Given the description of an element on the screen output the (x, y) to click on. 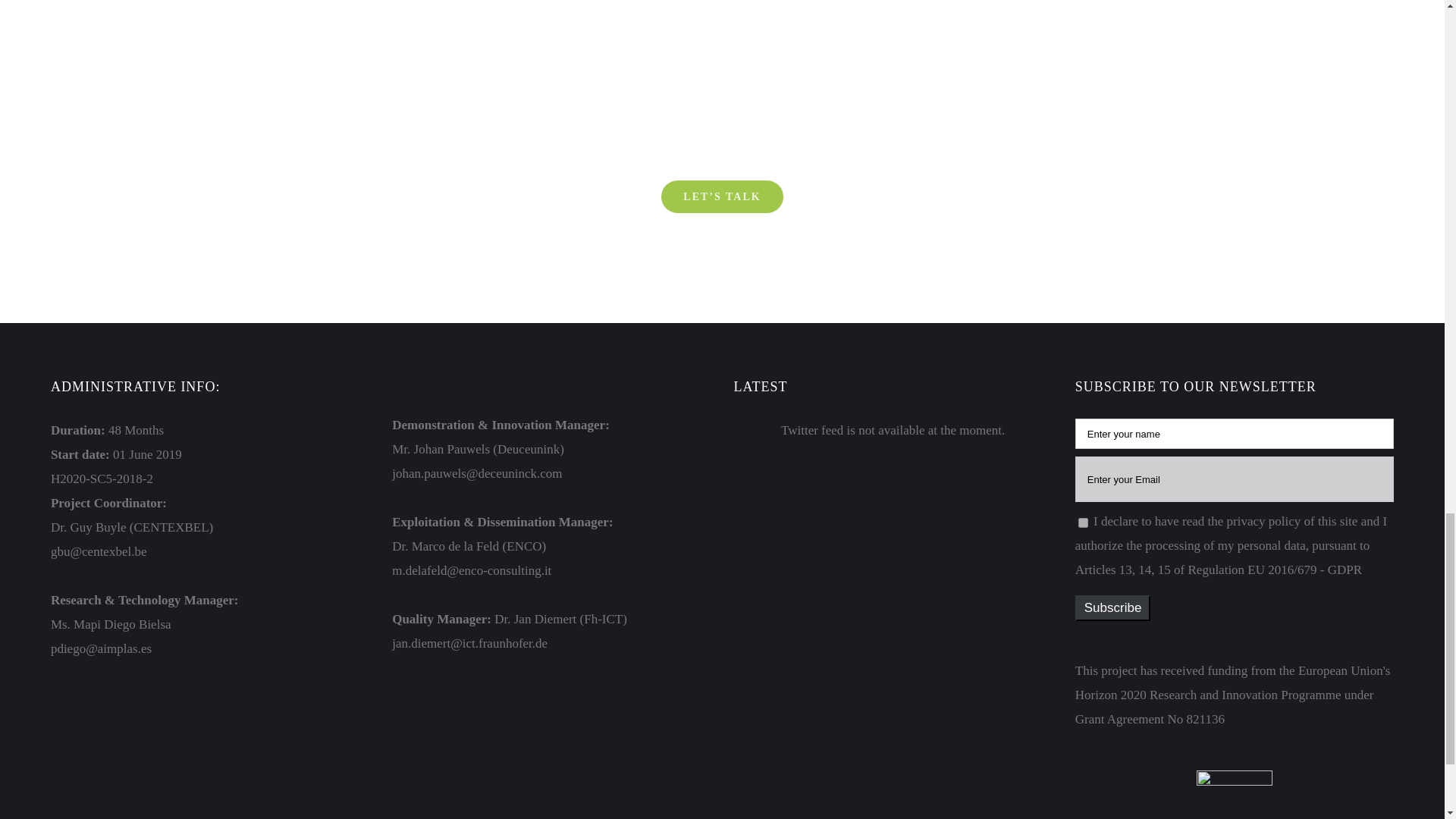
Subscribe (1113, 607)
Subscribe (1113, 607)
privacy policy (1264, 521)
ac71274e94 (1082, 522)
